Given the description of an element on the screen output the (x, y) to click on. 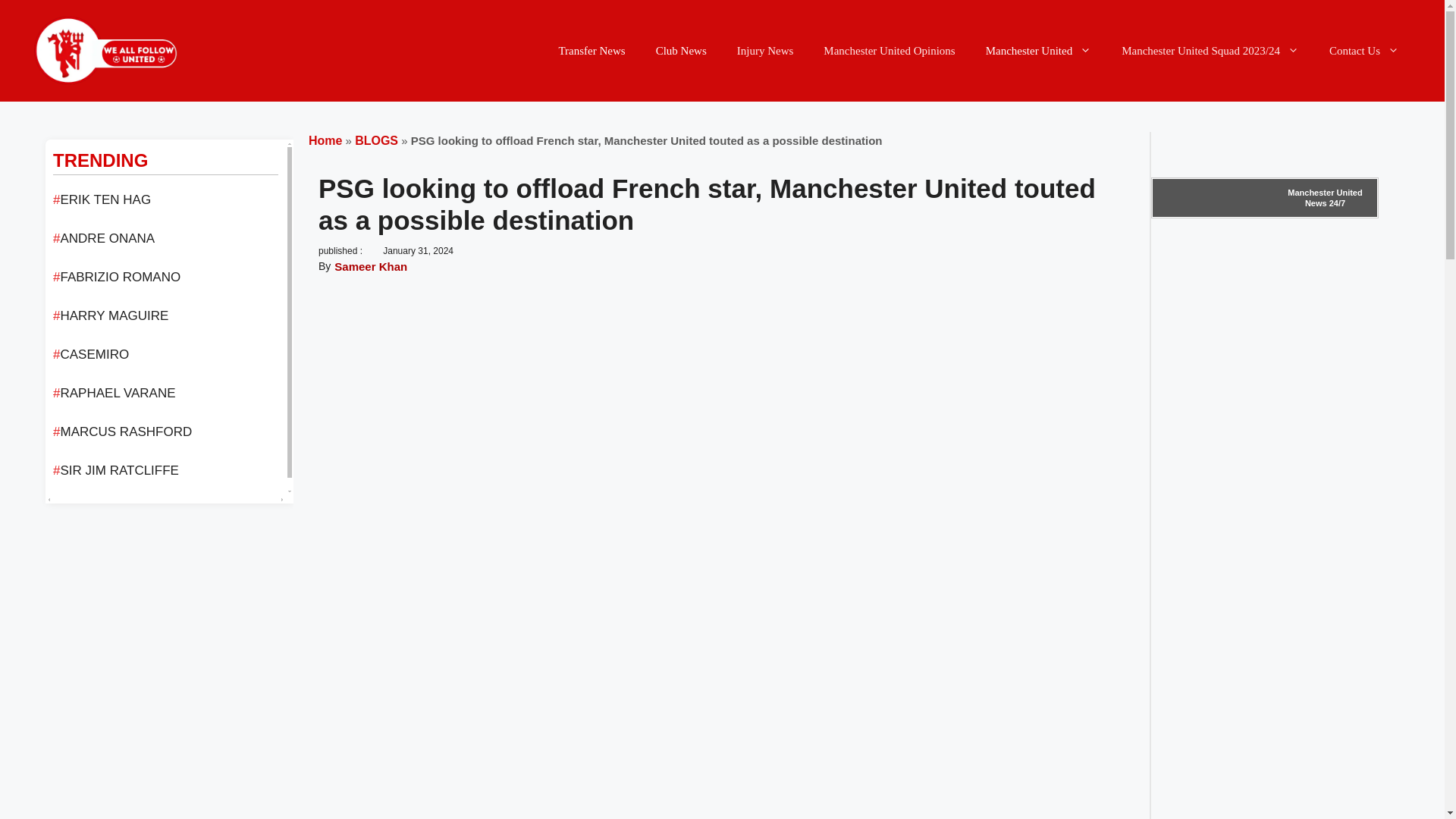
Injury News (765, 50)
Transfer News (591, 50)
Click here for more Manchester United news from NewsNow (1264, 197)
Club News (681, 50)
Manchester United (1038, 50)
Manchester United Opinions (888, 50)
